Given the description of an element on the screen output the (x, y) to click on. 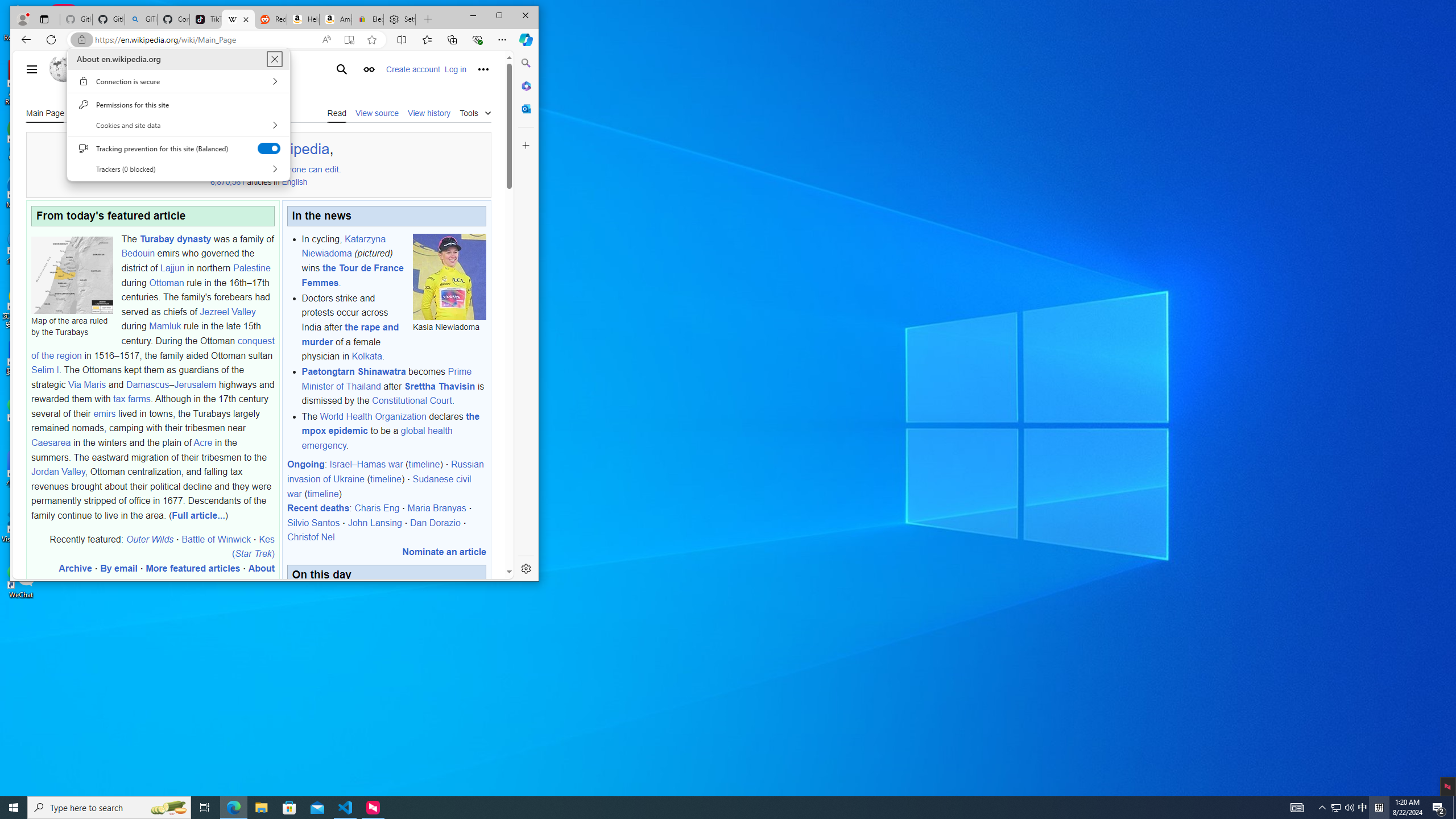
Outer Wilds (149, 538)
Katarzyna Niewiadoma (343, 245)
GITHUB - Search (140, 19)
Recent deaths (317, 508)
the Tour de France Femmes (352, 274)
